Given the description of an element on the screen output the (x, y) to click on. 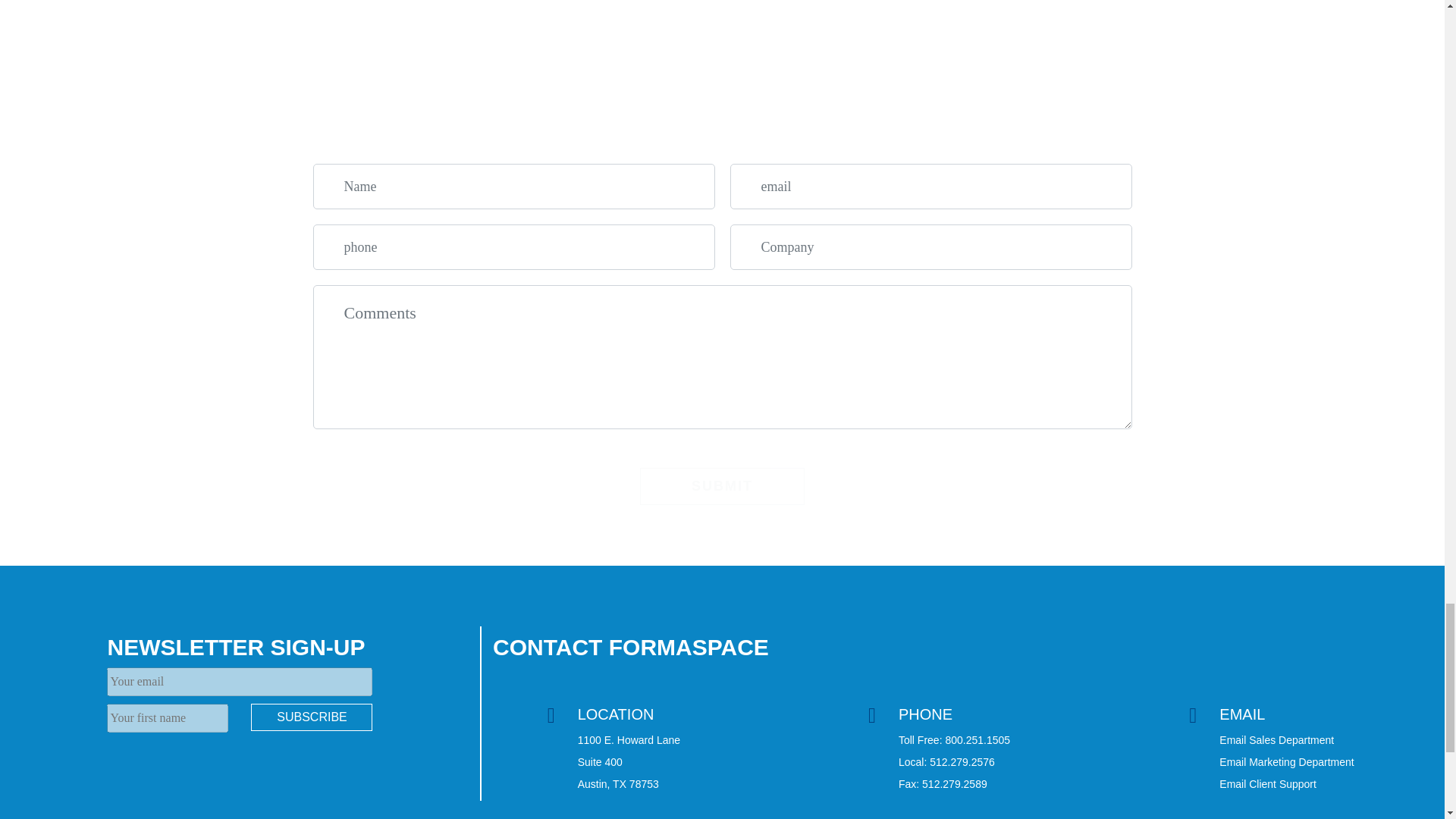
Subscribe (311, 717)
